Given the description of an element on the screen output the (x, y) to click on. 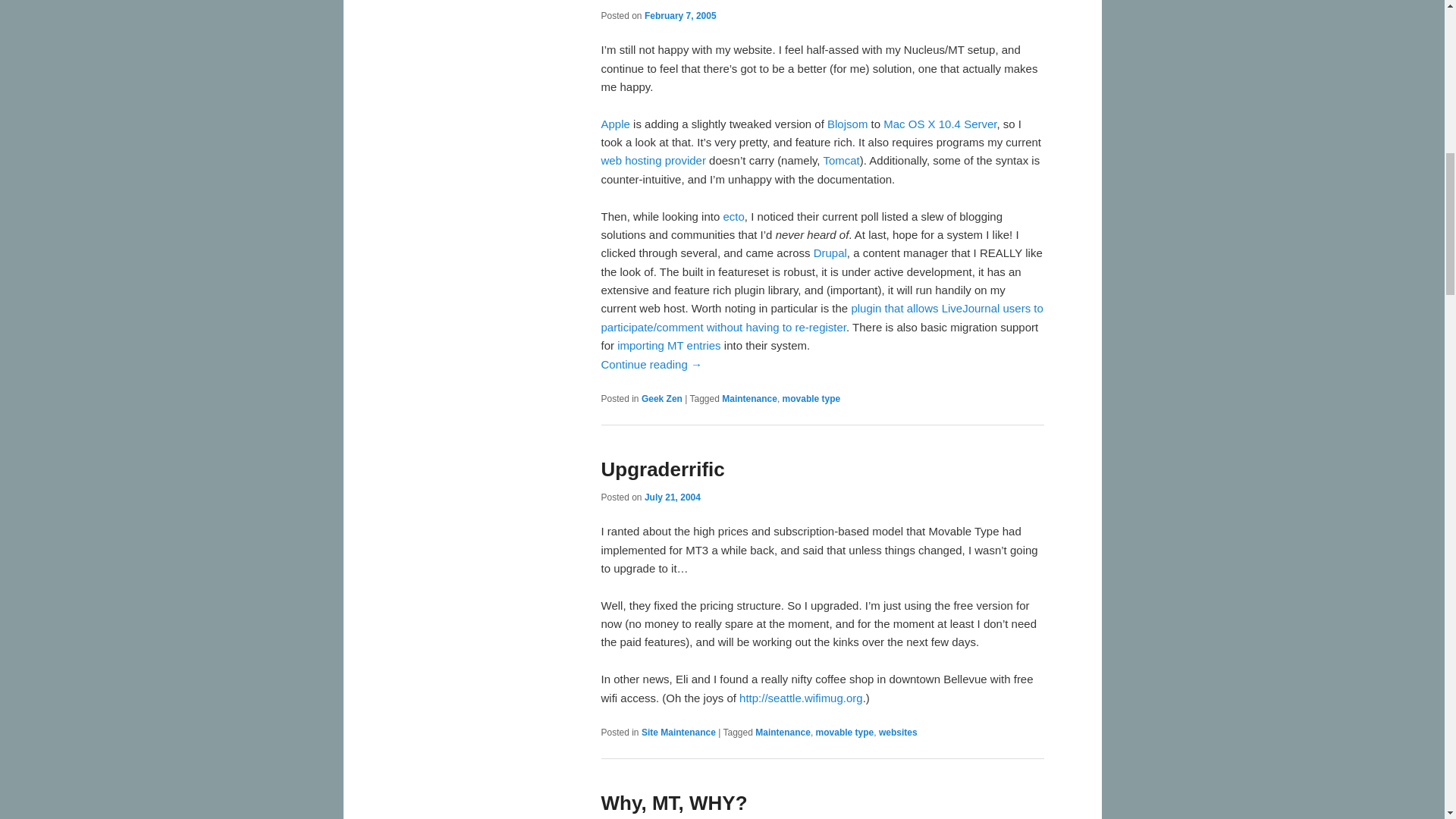
Tomcat (840, 160)
5:56:33 pm (672, 497)
movable type (812, 398)
Maintenance (749, 398)
10:24:00 pm (680, 15)
Apple (613, 123)
Geek Zen (662, 398)
Mac OS X 10.4 Server (939, 123)
February 7, 2005 (680, 15)
importing MT entries (668, 345)
